Given the description of an element on the screen output the (x, y) to click on. 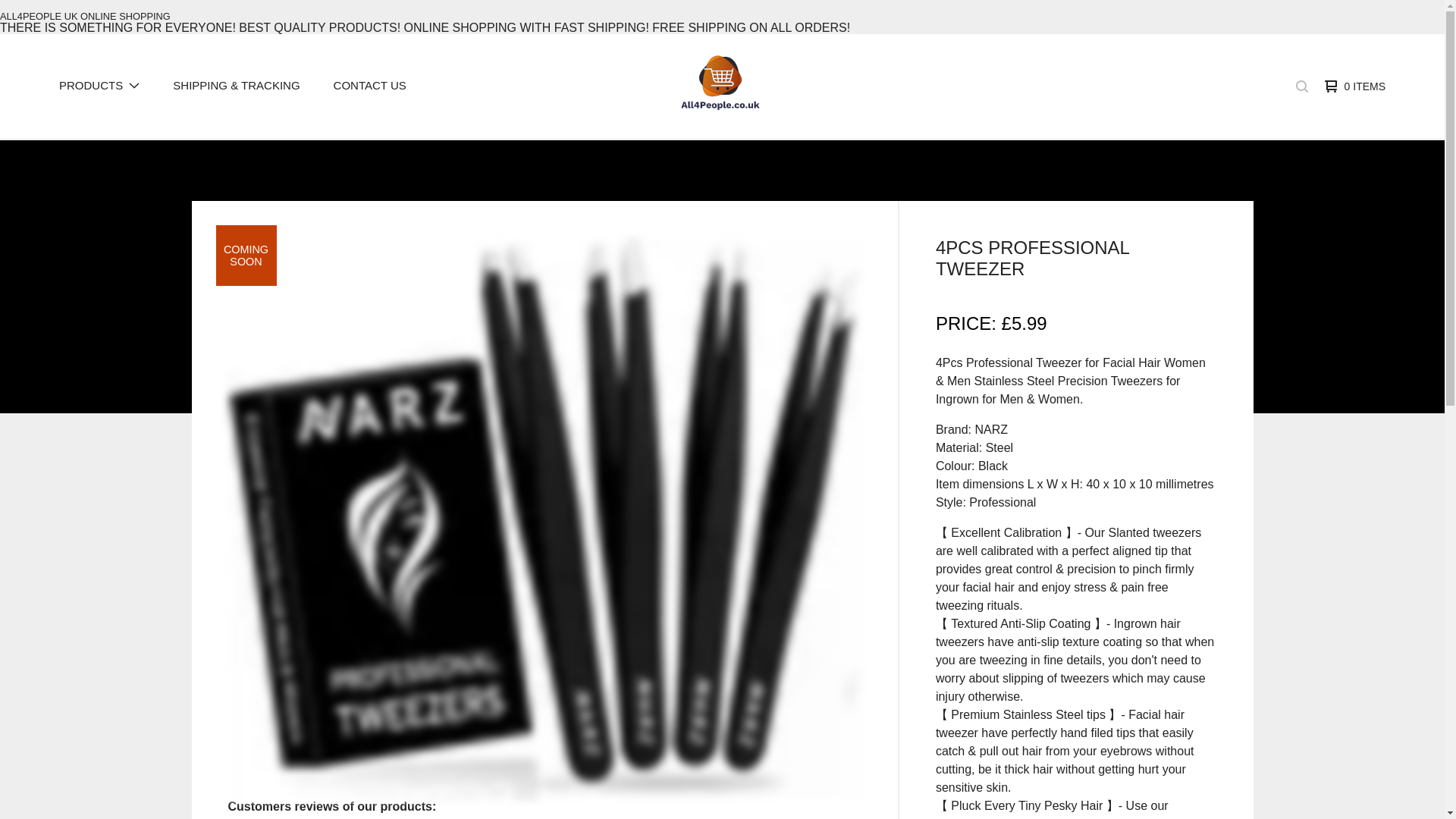
All4People UK Online Shopping (720, 86)
PRODUCTS (99, 85)
View Basket (1351, 85)
CONTACT US (369, 85)
0 ITEMS (1351, 85)
